Given the description of an element on the screen output the (x, y) to click on. 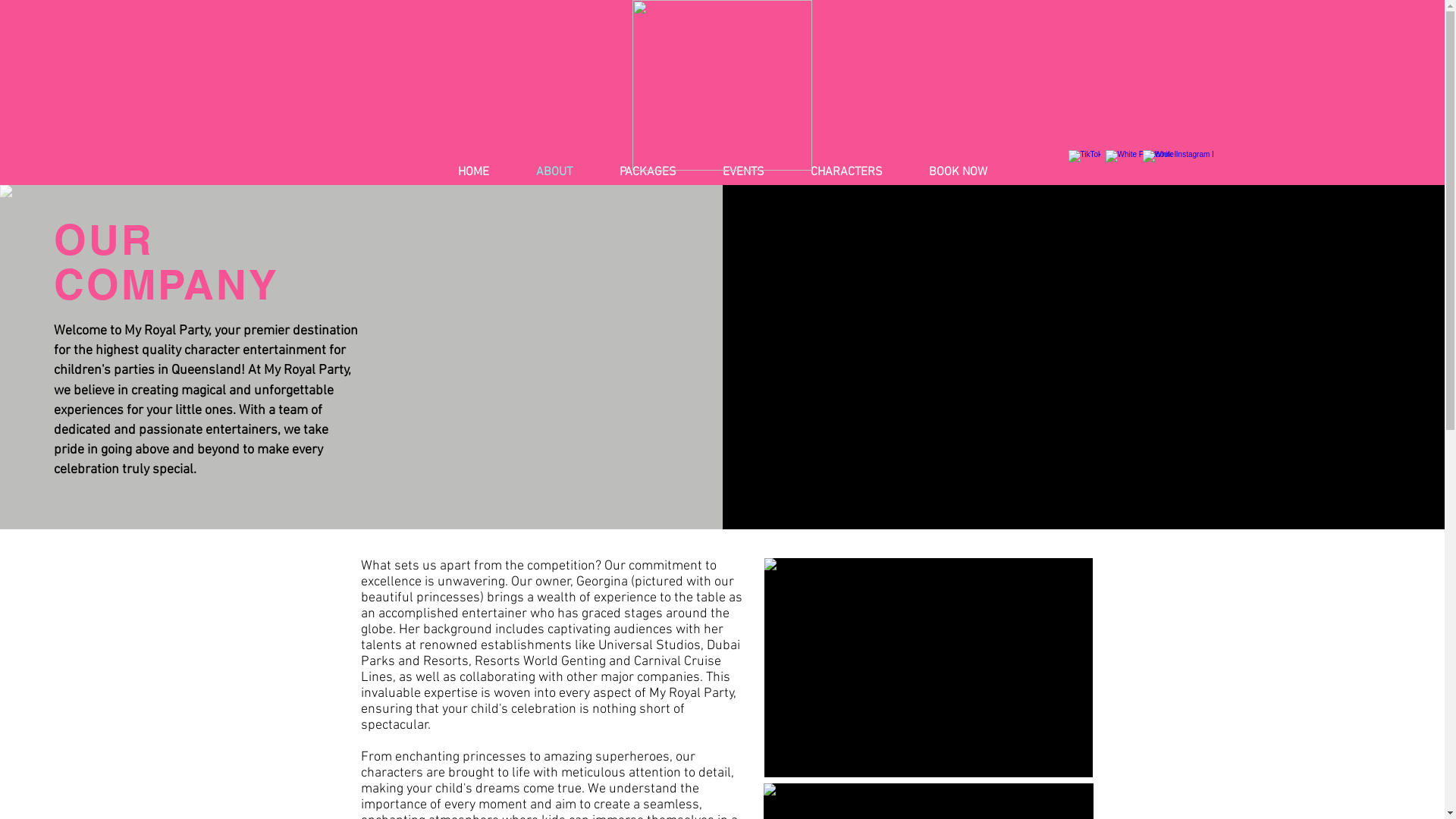
PACKAGES Element type: text (647, 172)
EVENTS Element type: text (743, 172)
CHARACTERS Element type: text (846, 172)
HOME Element type: text (472, 172)
BOOK NOW Element type: text (957, 172)
14b16d_e1c44308534349bb98b5b9278e74baa1~mv2.jpeg Element type: hover (928, 667)
ABOUT Element type: text (554, 172)
